Given the description of an element on the screen output the (x, y) to click on. 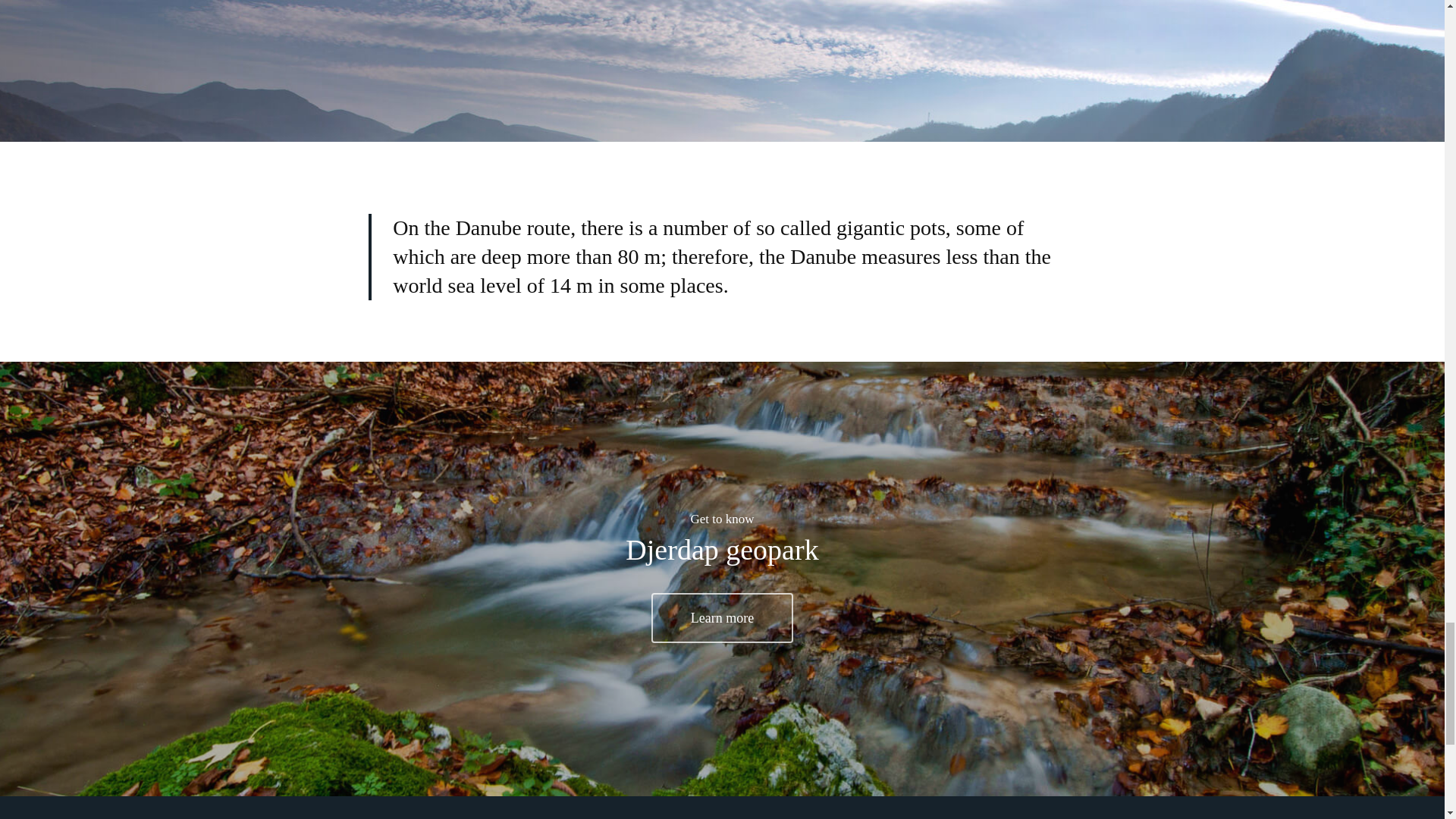
Learn more (721, 617)
